Given the description of an element on the screen output the (x, y) to click on. 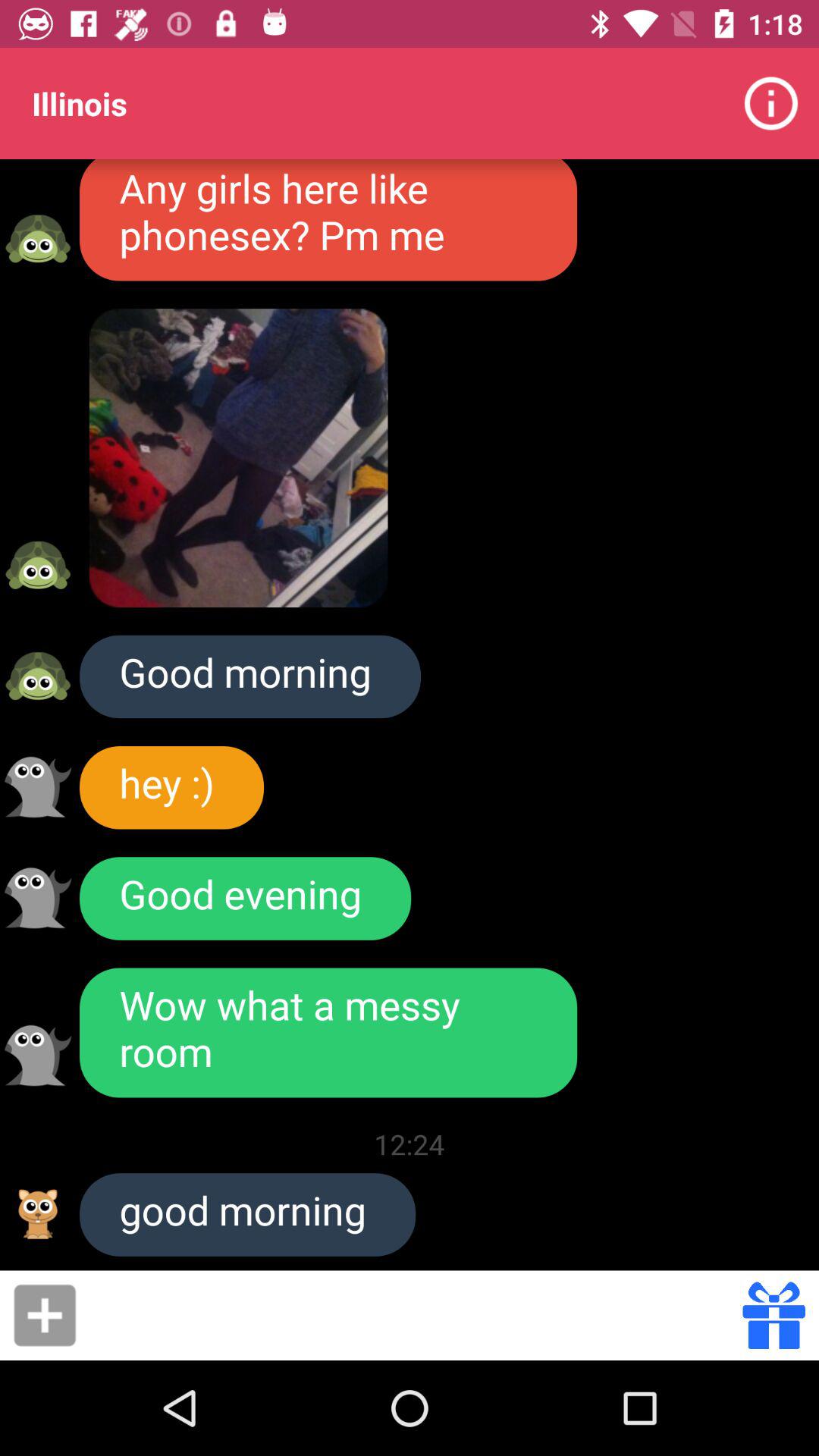
send a gift (774, 1315)
